Given the description of an element on the screen output the (x, y) to click on. 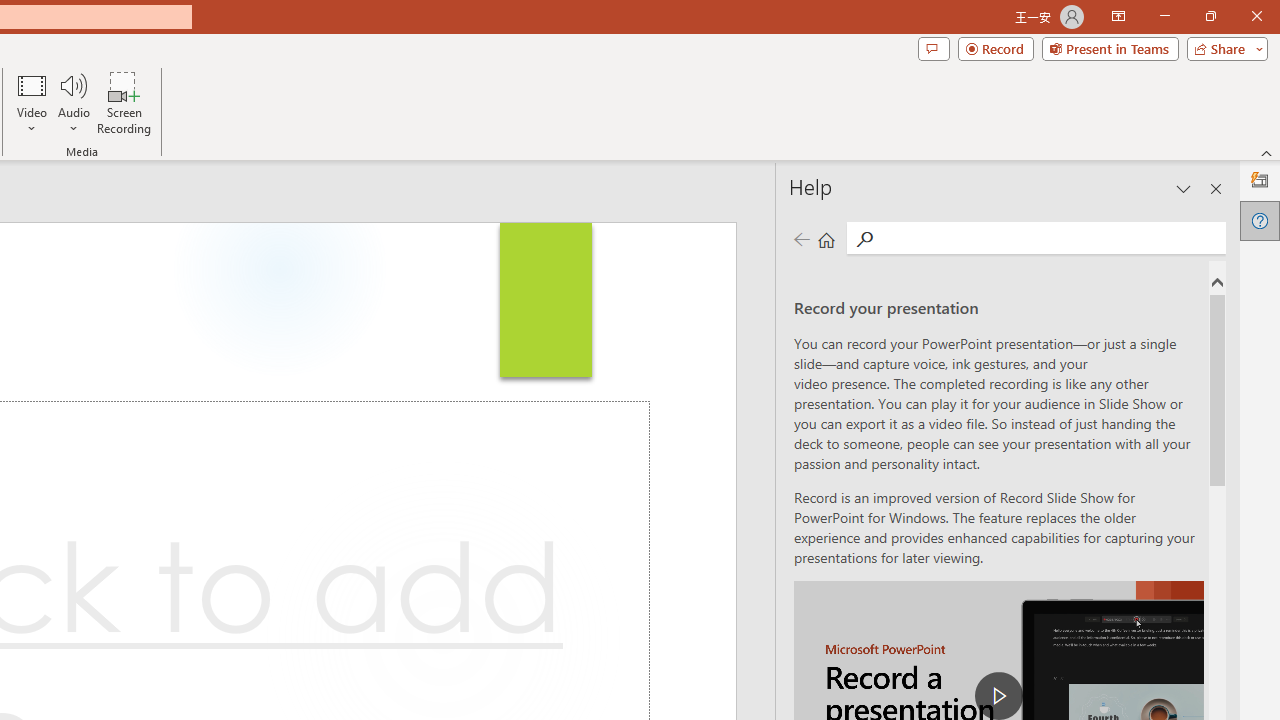
Previous page (801, 238)
